Given the description of an element on the screen output the (x, y) to click on. 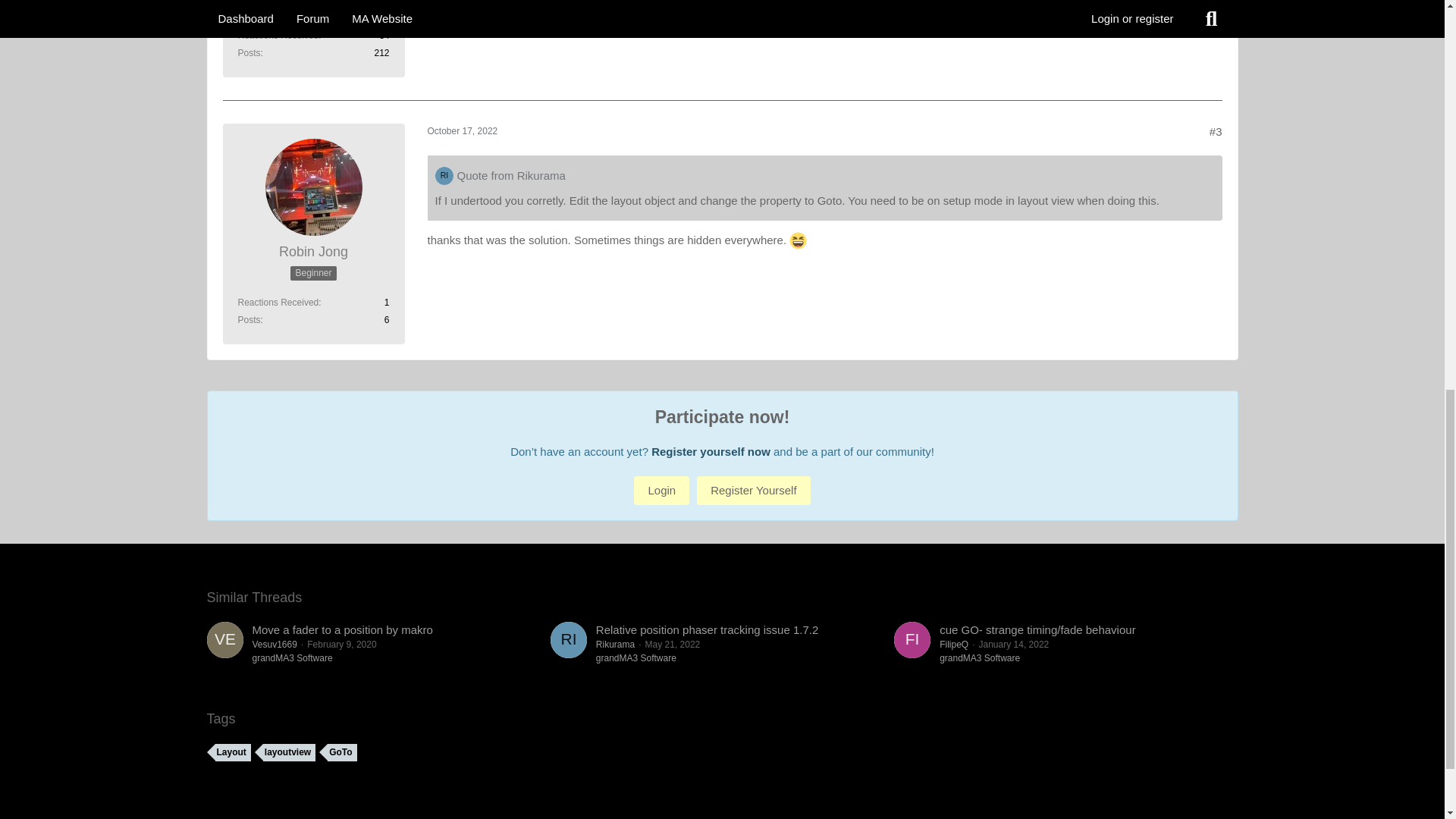
October 17, 2022October 17, 2022 at 7:36 PM (462, 131)
biggrin (797, 240)
Robin Jong (313, 252)
Reactions Received (278, 35)
Posts (249, 52)
Quote from Rikurama (510, 174)
Reactions Received (278, 302)
Posts (249, 319)
